Given the description of an element on the screen output the (x, y) to click on. 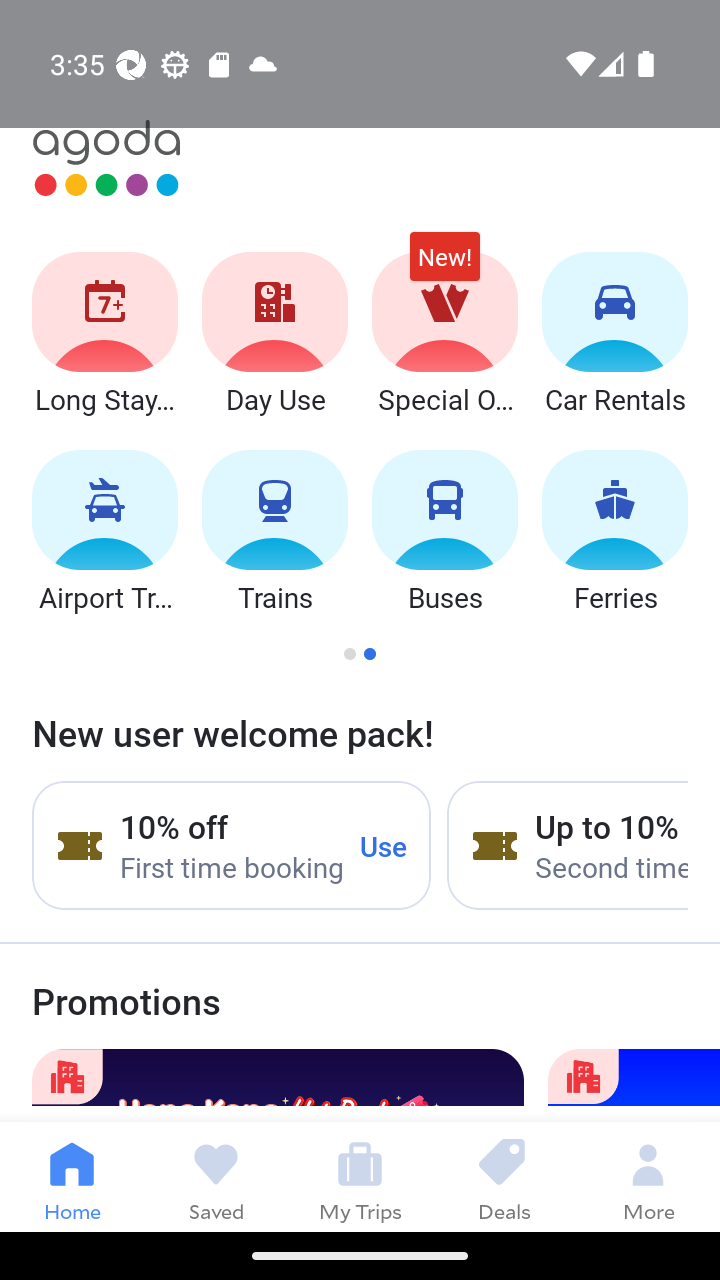
New! (444, 265)
Use (384, 845)
Home (72, 1176)
Saved (216, 1176)
My Trips (360, 1176)
Deals (504, 1176)
More (648, 1176)
